Given the description of an element on the screen output the (x, y) to click on. 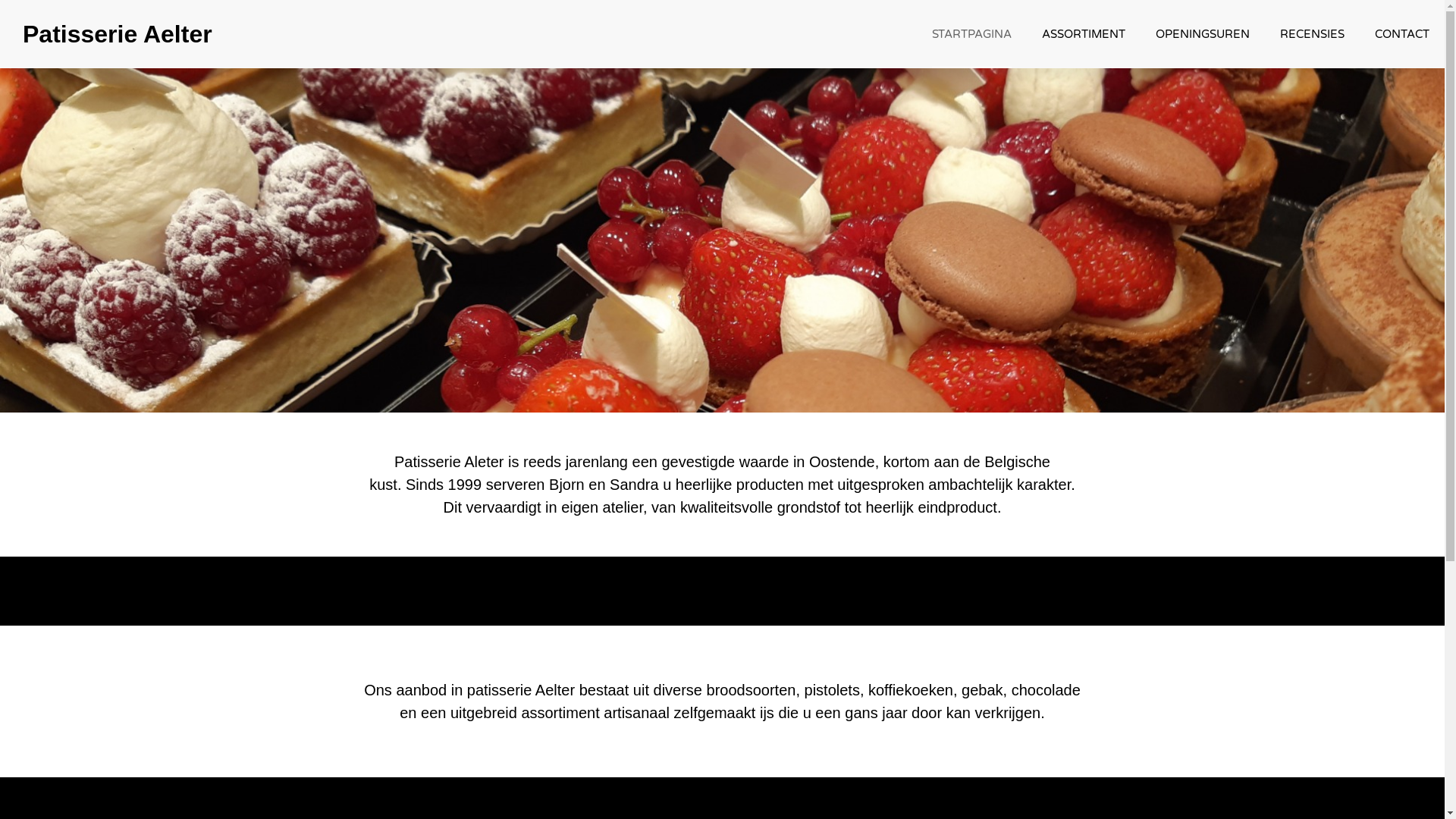
ASSORTIMENT Element type: text (1083, 34)
OPENINGSUREN Element type: text (1202, 34)
RECENSIES Element type: text (1312, 34)
STARTPAGINA Element type: text (971, 34)
CONTACT Element type: text (1401, 34)
